Given the description of an element on the screen output the (x, y) to click on. 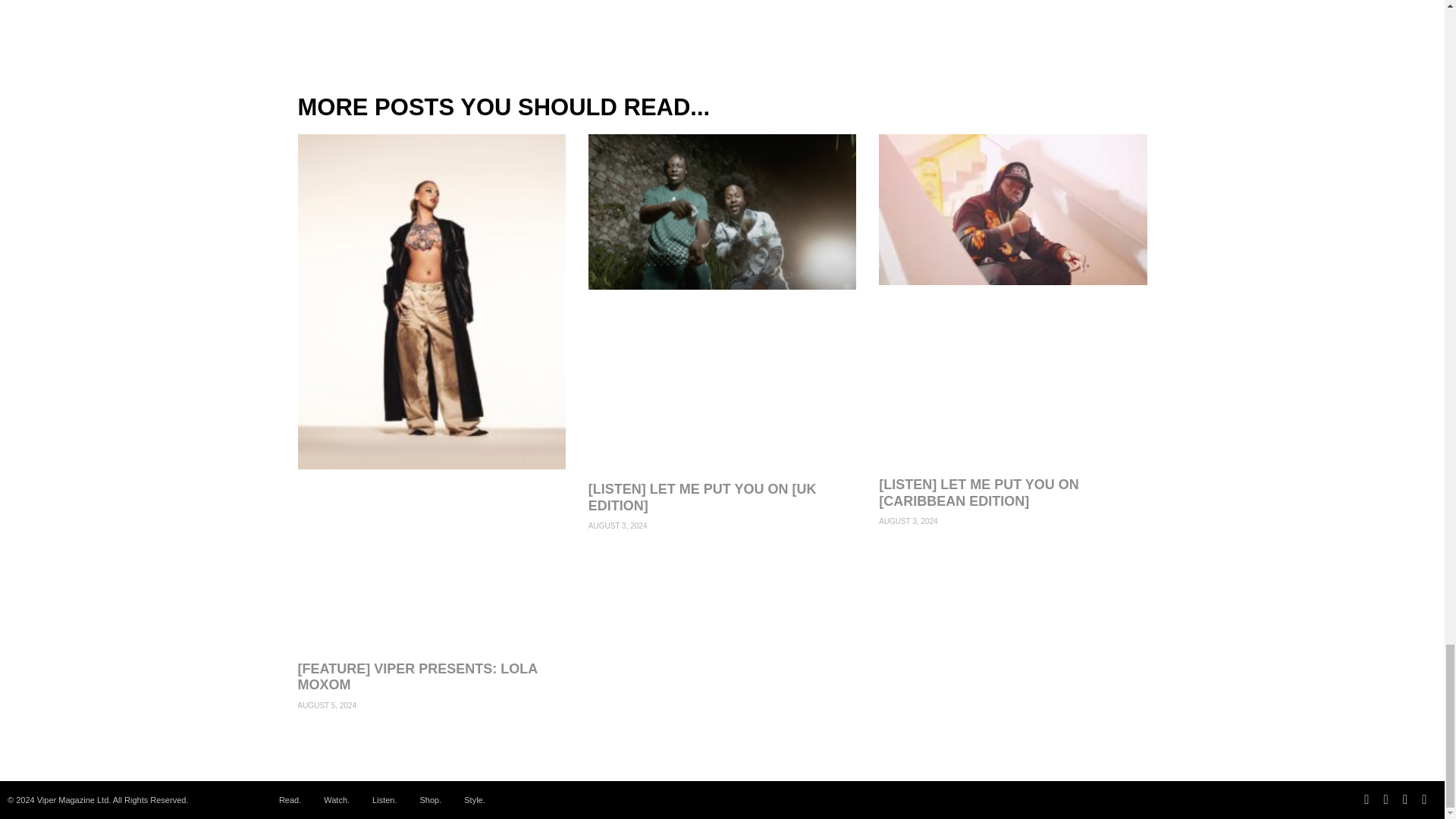
Listen. (384, 799)
Read. (290, 799)
Shop. (429, 799)
Watch. (337, 799)
Style. (474, 799)
